Given the description of an element on the screen output the (x, y) to click on. 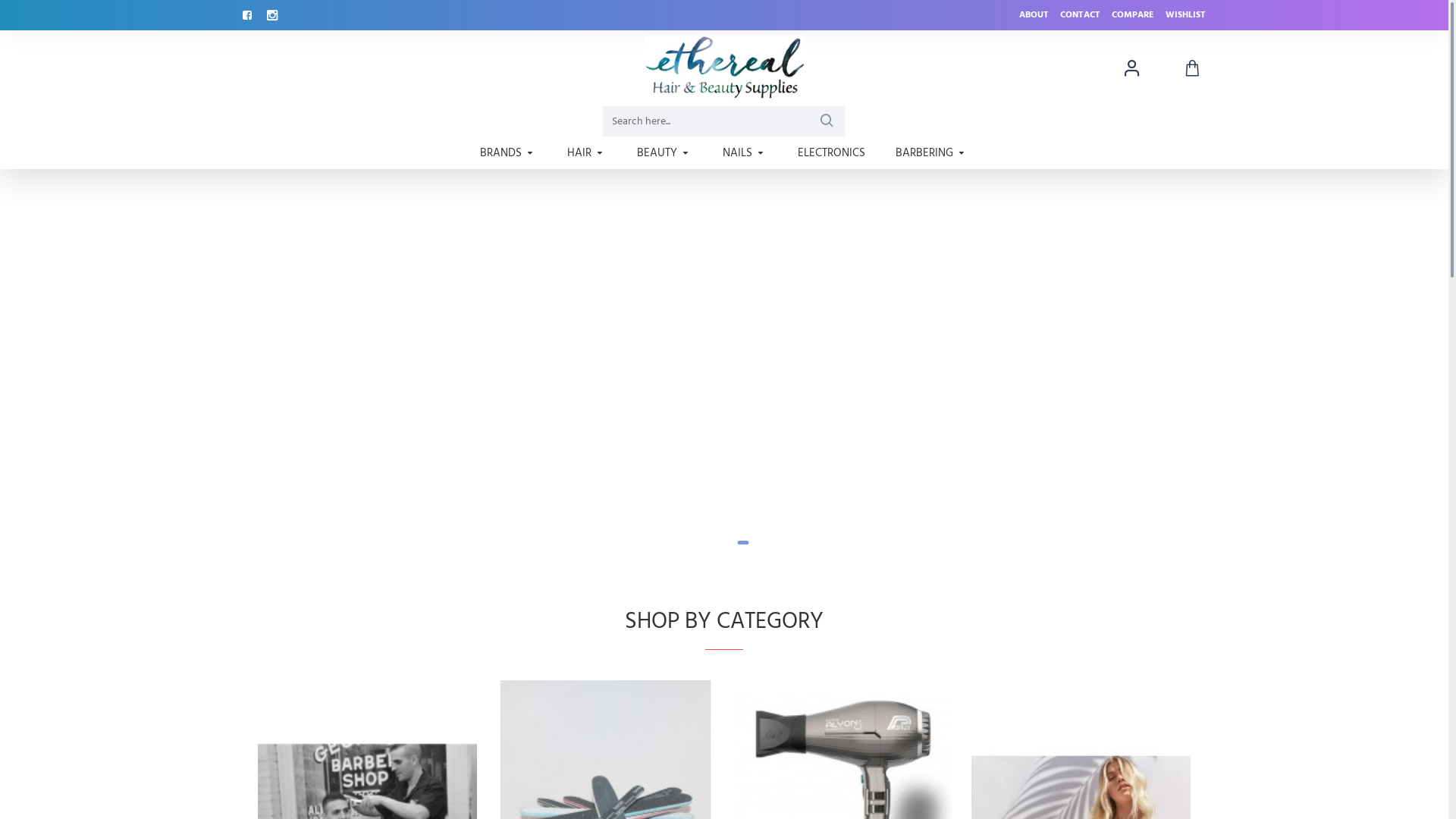
HAIR Element type: text (586, 152)
BARBERING Element type: text (931, 152)
Ethereal Hair & Beauty Supplies Element type: hover (723, 67)
NAILS Element type: text (744, 152)
ABOUT Element type: text (1033, 14)
ELECTRONICS Element type: text (831, 152)
BEAUTY Element type: text (664, 152)
BRANDS Element type: text (508, 152)
COMPARE Element type: text (1132, 14)
WISHLIST Element type: text (1185, 14)
CONTACT Element type: text (1080, 14)
